Given the description of an element on the screen output the (x, y) to click on. 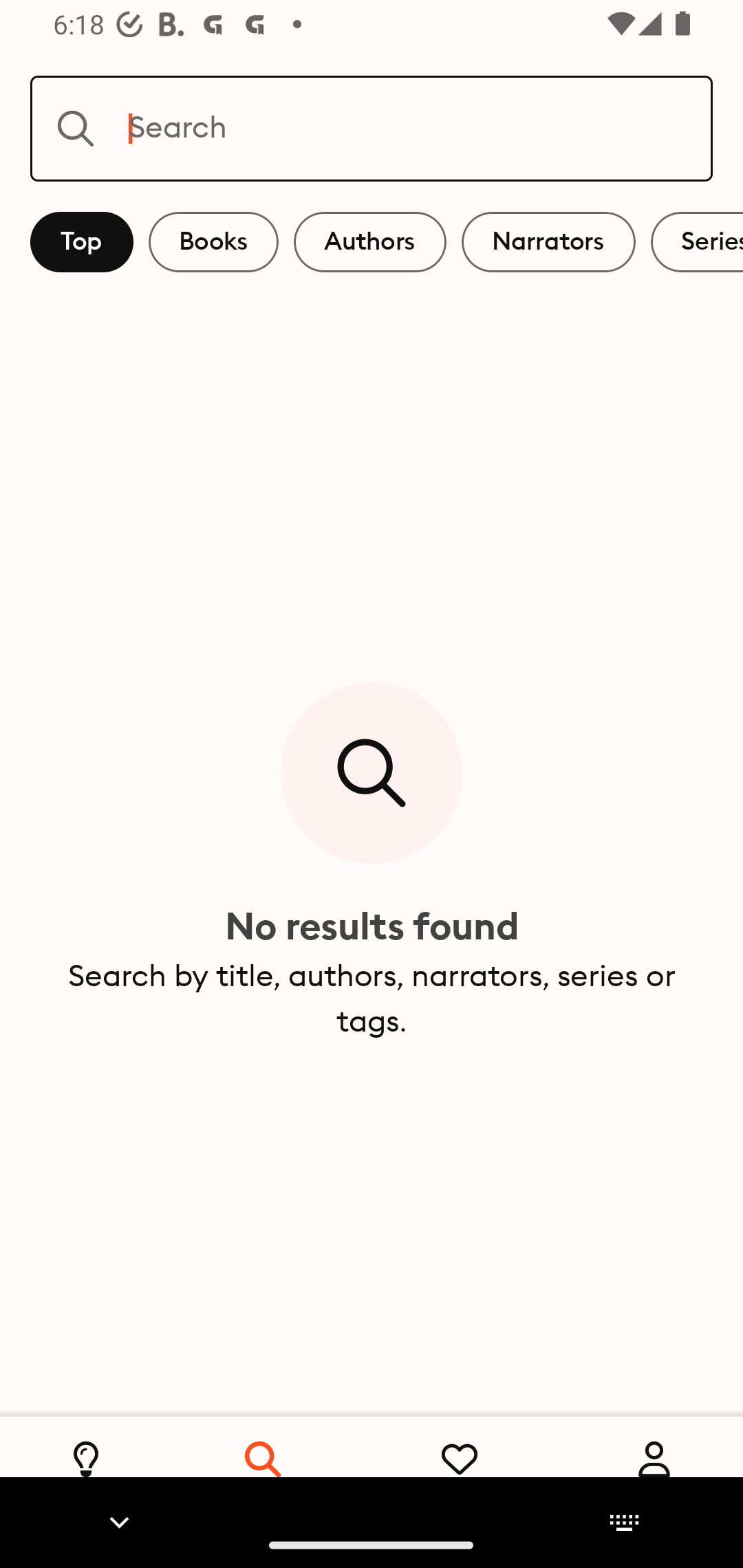
Search (371, 128)
Top (81, 241)
Books (213, 241)
Authors (369, 241)
Narrators (548, 241)
Series (696, 241)
